Given the description of an element on the screen output the (x, y) to click on. 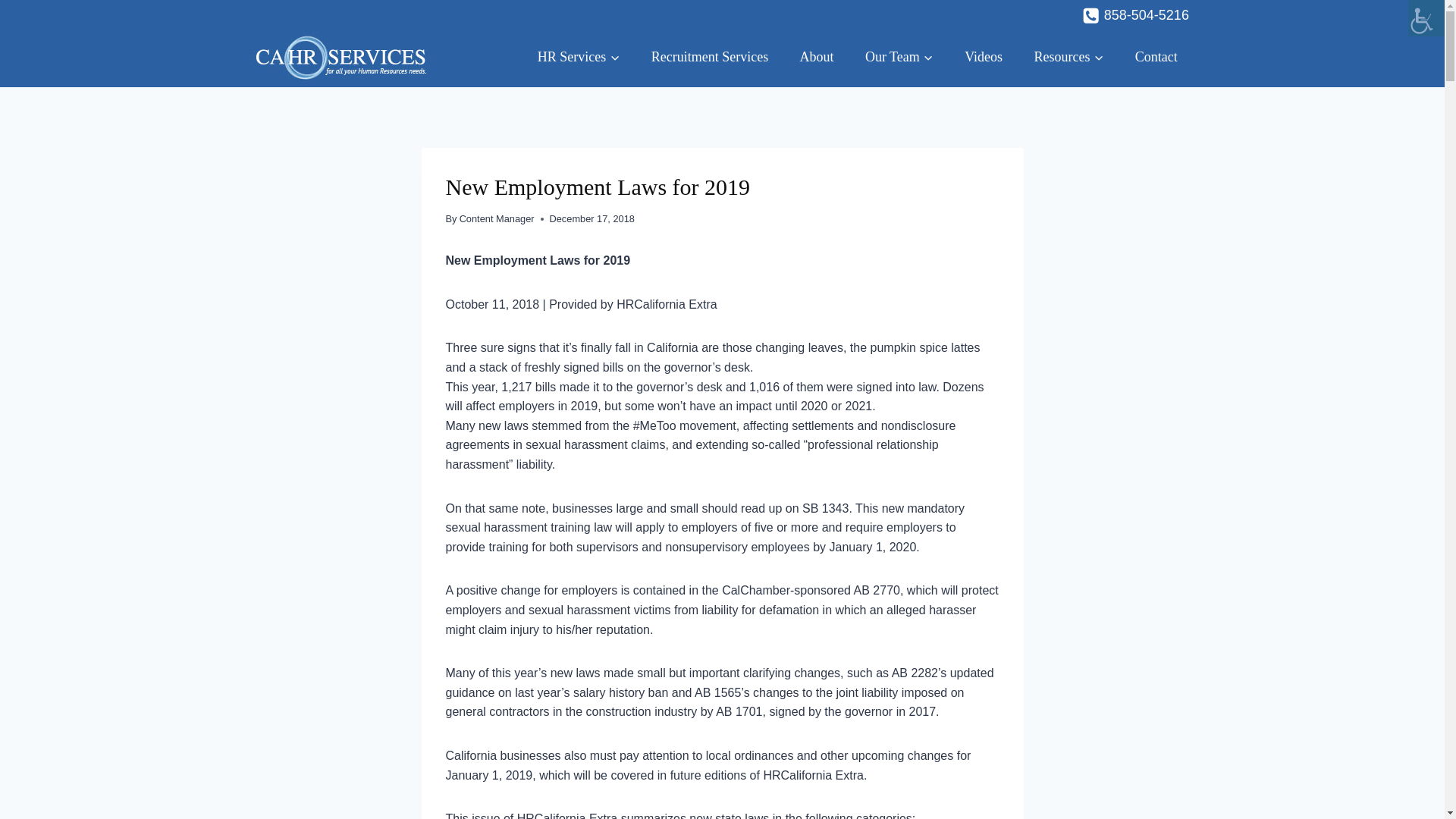
Videos (983, 56)
About (816, 56)
Our Team (898, 56)
HR Services (577, 56)
Resources (1068, 56)
858-504-5216 (1135, 15)
Recruitment Services (709, 56)
